Given the description of an element on the screen output the (x, y) to click on. 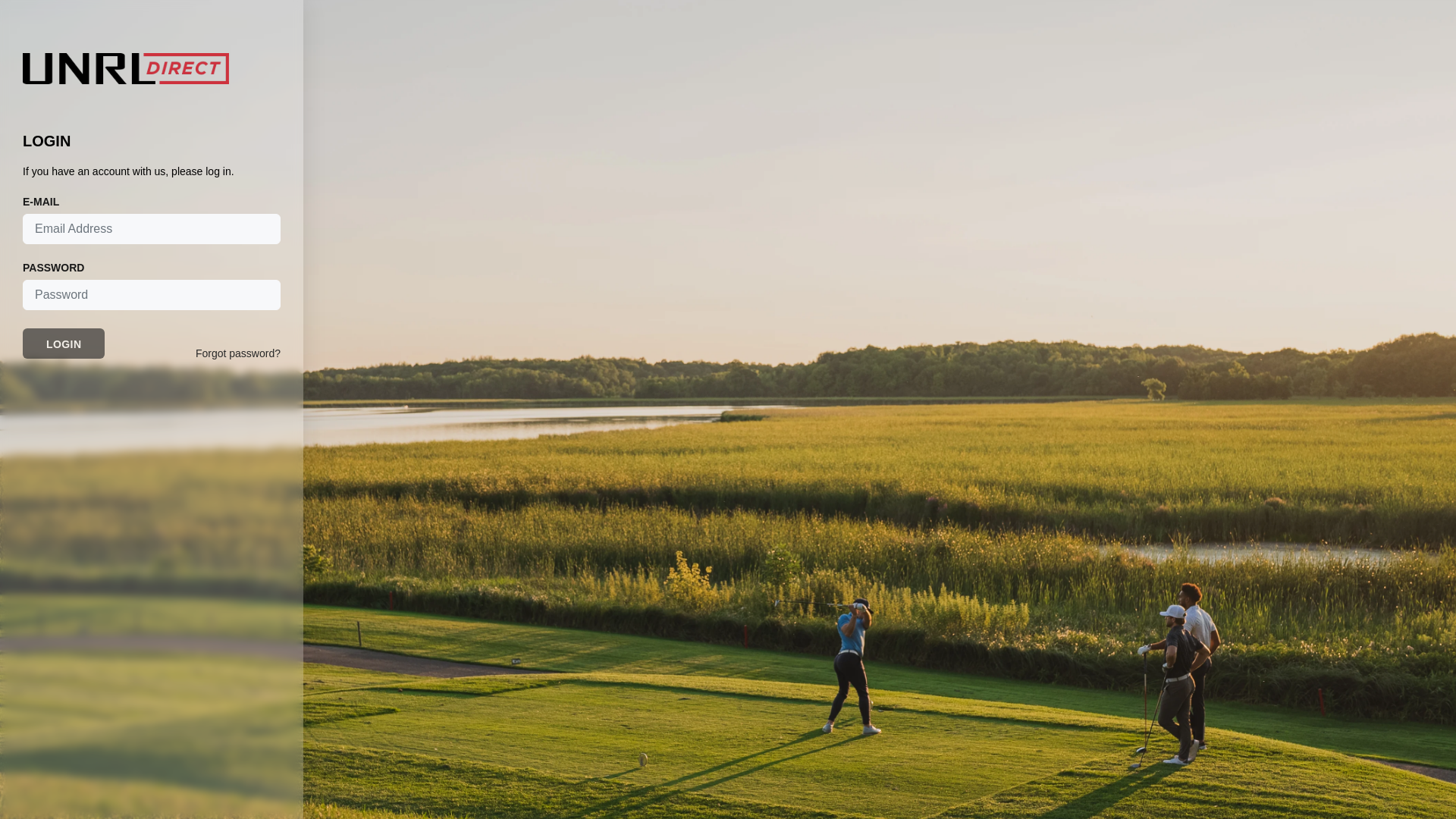
Forgot password? (238, 353)
LOGIN (63, 343)
